Given the description of an element on the screen output the (x, y) to click on. 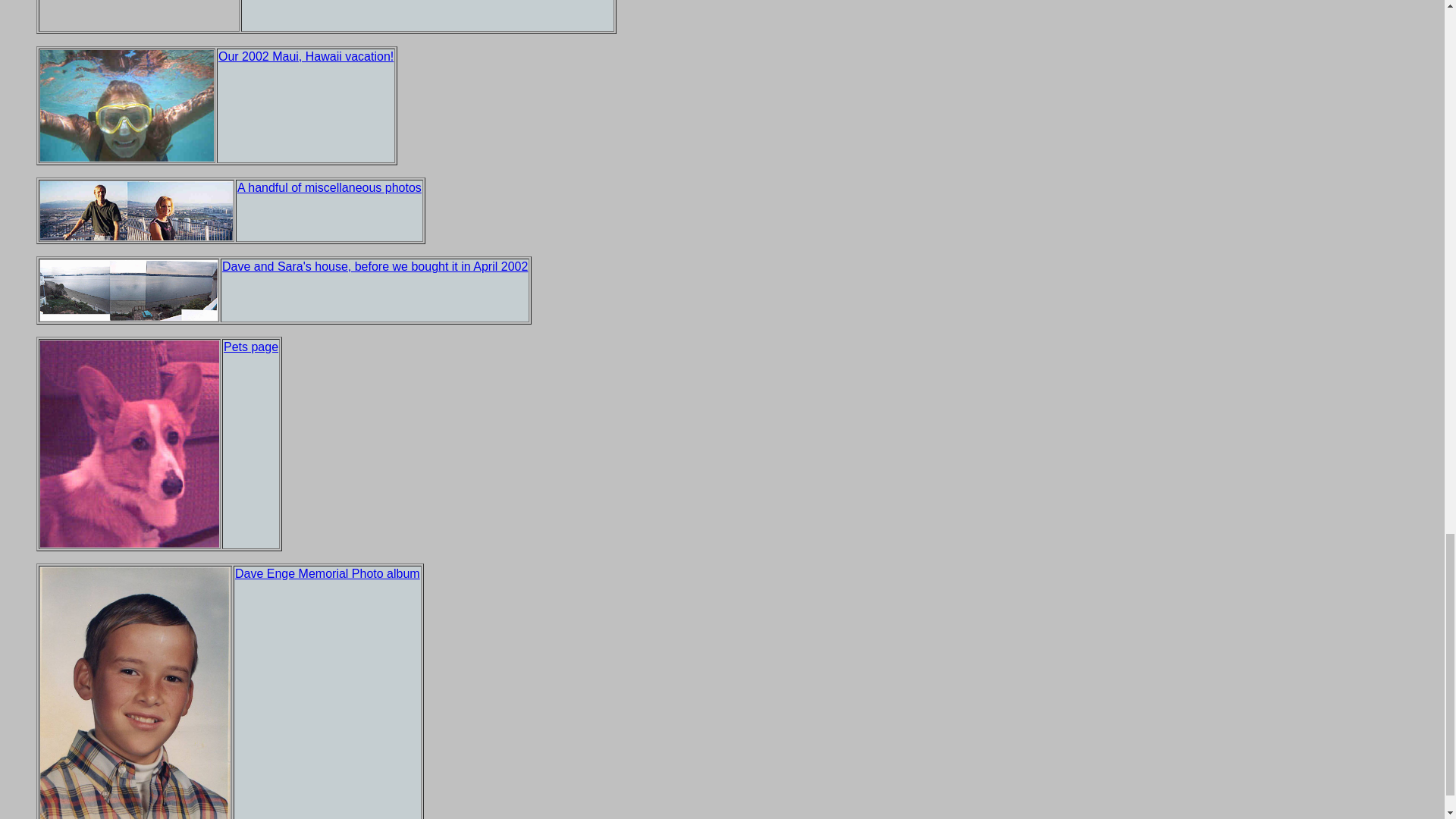
Our 2002 Maui, Hawaii vacation! (305, 56)
A handful of miscellaneous photos (329, 187)
Dave and Sara's house, before we bought it in April 2002 (374, 266)
